Given the description of an element on the screen output the (x, y) to click on. 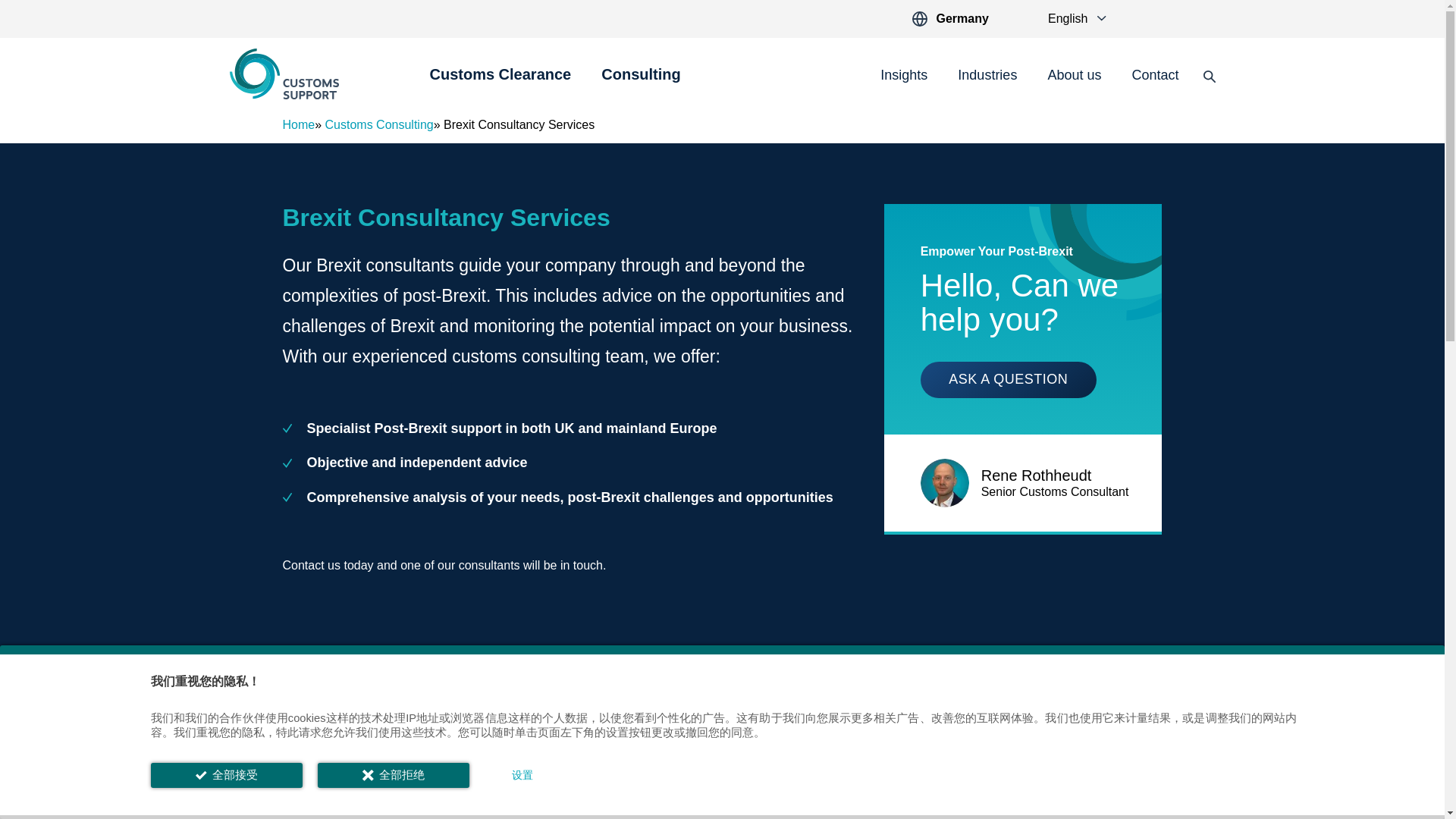
Customs Clearance (499, 83)
Insights (903, 75)
Consulting (640, 83)
Insights (903, 75)
Consulting (640, 83)
Industries (987, 75)
Industries (987, 75)
Customs Clearance (499, 83)
